Given the description of an element on the screen output the (x, y) to click on. 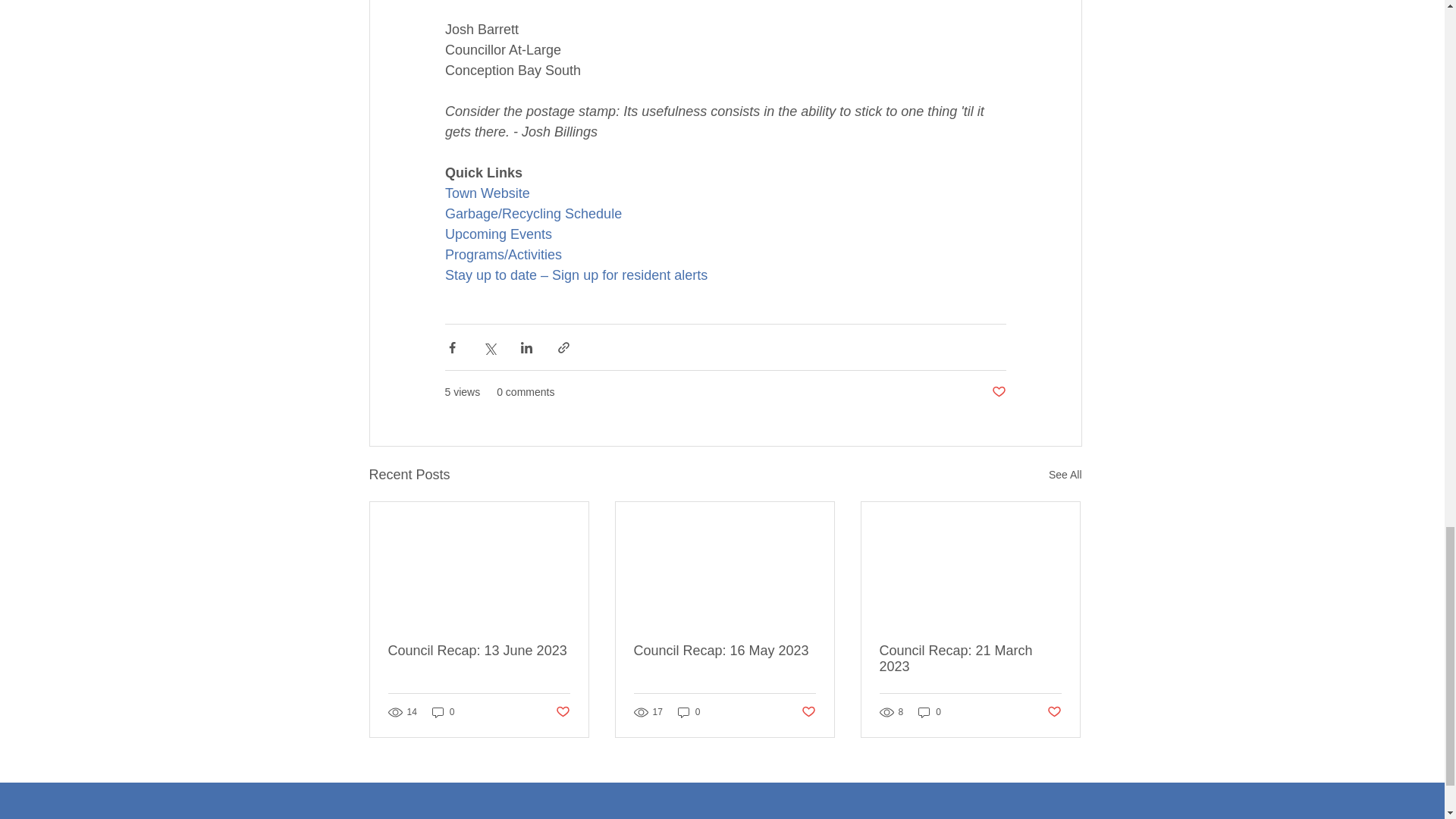
See All (1064, 475)
Council Recap: 16 May 2023 (724, 650)
0 (689, 712)
Post not marked as liked (561, 711)
Upcoming Events (497, 233)
Council Recap: 21 March 2023 (970, 658)
Council Recap: 13 June 2023 (479, 650)
0 (443, 712)
Town Website (486, 192)
0 (929, 712)
Post not marked as liked (807, 711)
Post not marked as liked (1053, 711)
Post not marked as liked (998, 392)
